Given the description of an element on the screen output the (x, y) to click on. 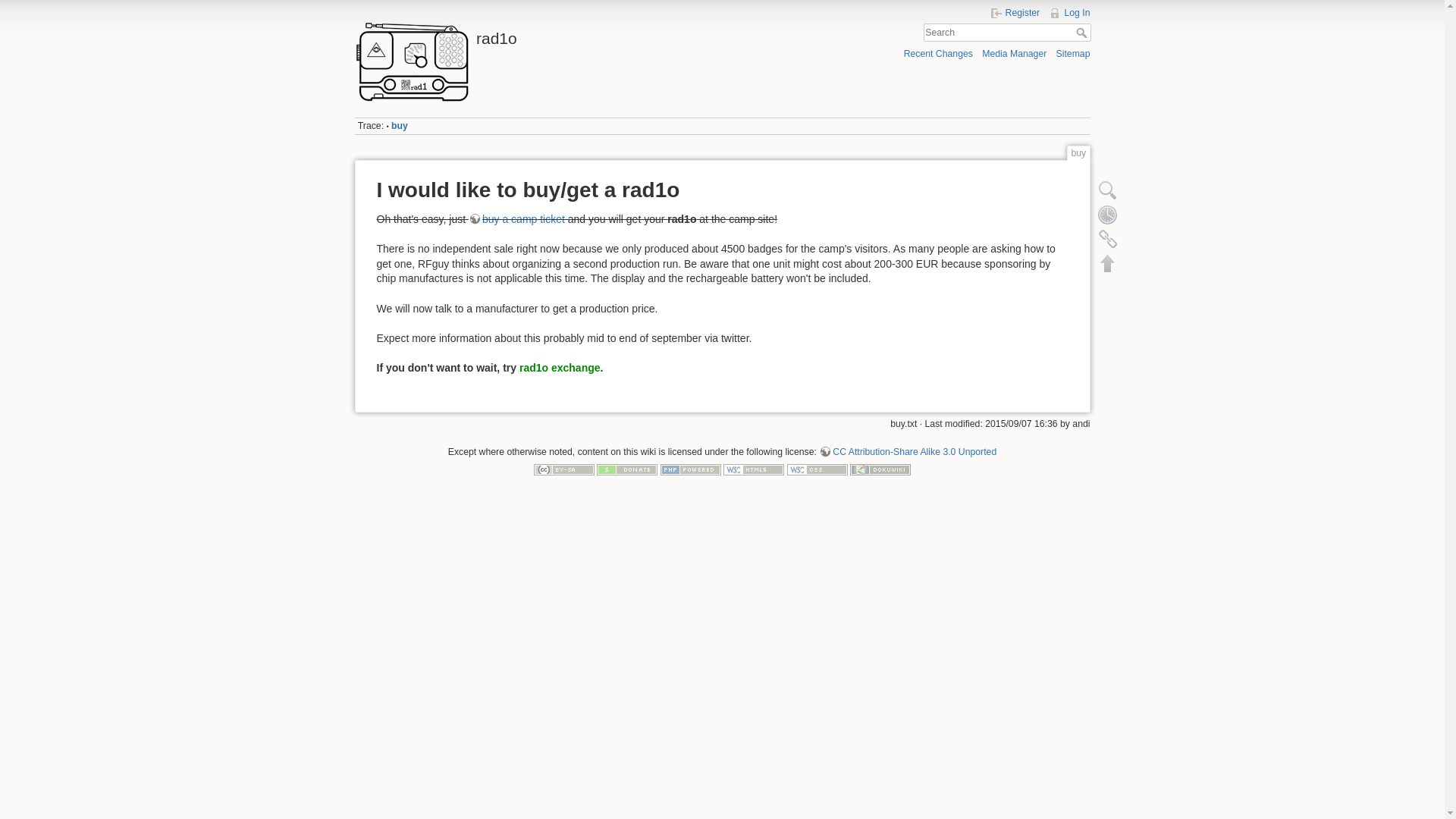
Log In (1068, 12)
Register (1015, 12)
Sitemap (1073, 53)
buy (399, 125)
Recent Changes (938, 53)
buy a camp ticket (516, 218)
CC Attribution-Share Alike 3.0 Unported (906, 451)
rad1o exchange (559, 367)
buy (399, 125)
Register (1015, 12)
Media Manager (1013, 53)
rad1o (534, 34)
Log In (1068, 12)
Search (1082, 32)
rad1oexchange (559, 367)
